Given the description of an element on the screen output the (x, y) to click on. 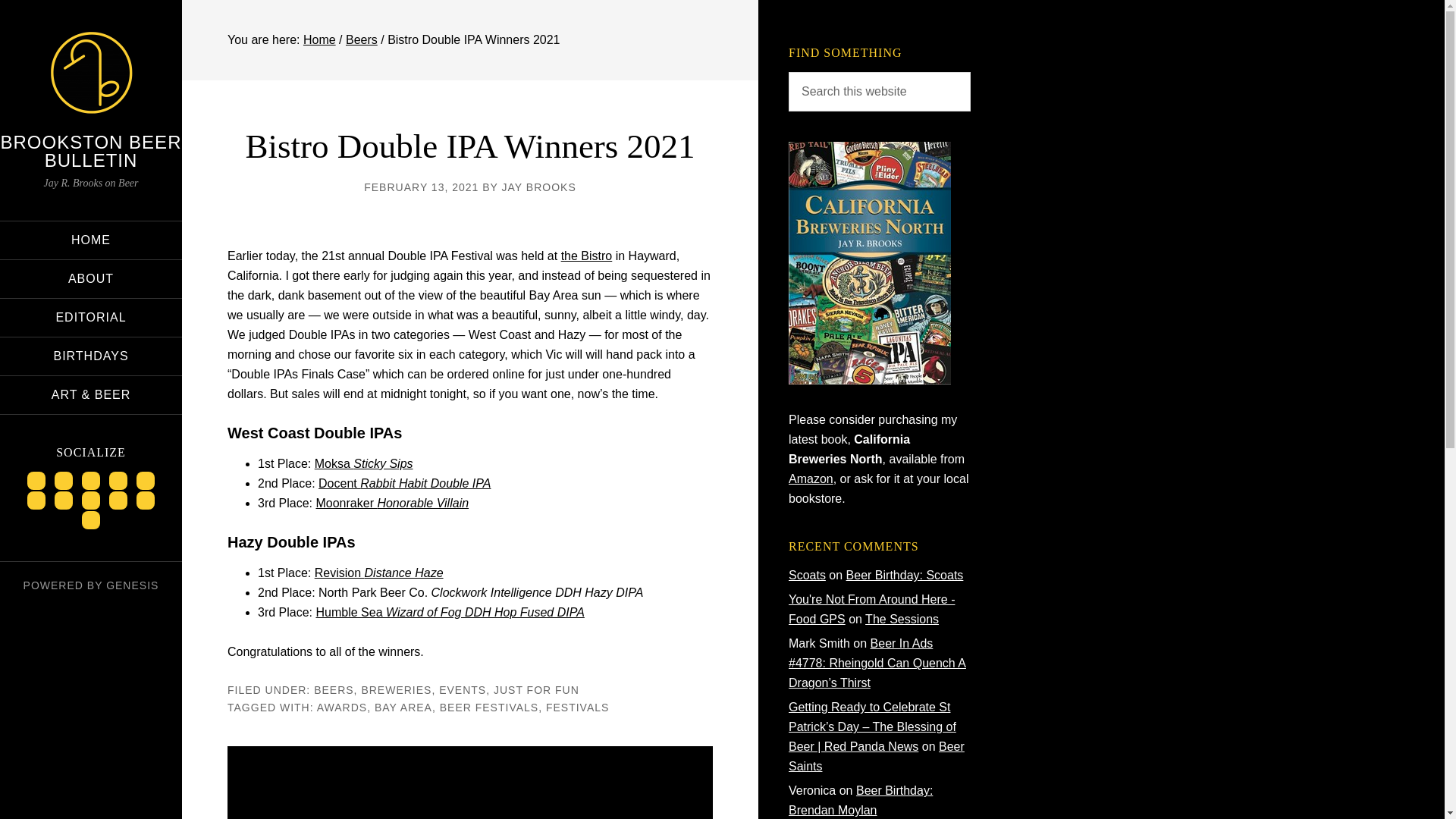
AWARDS (341, 706)
BAY AREA (403, 706)
JUST FOR FUN (536, 689)
Scoats (807, 574)
BROOKSTON BEER BULLETIN (91, 150)
Humble Sea Wizard of Fog DDH Hop Fused DIPA (449, 612)
BREWERIES (395, 689)
Revision Distance Haze (379, 572)
BIRTHDAYS (91, 356)
Docent Rabbit Habit Double IPA (404, 482)
